Given the description of an element on the screen output the (x, y) to click on. 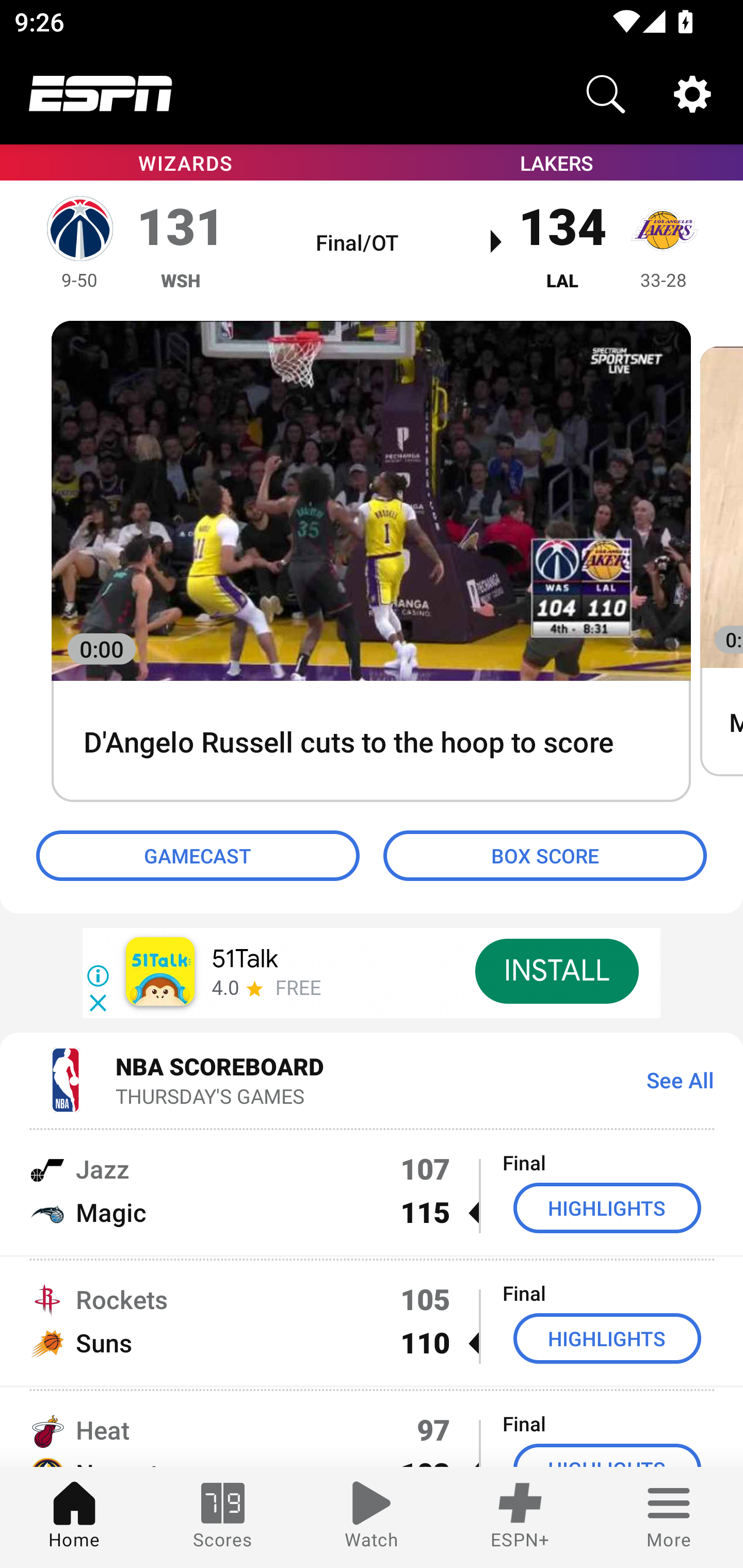
Search (605, 93)
Settings (692, 93)
0:00 D'Angelo Russell cuts to the hoop to score (370, 561)
GAMECAST (197, 856)
BOX SCORE (544, 856)
INSTALL (556, 971)
51Talk (244, 959)
NBA SCOREBOARD THURSDAY'S GAMES See All (371, 1079)
Jazz 107 Final Magic 115  HIGHLIGHTS (371, 1189)
HIGHLIGHTS (607, 1208)
Rockets 105 Final Suns 110  HIGHLIGHTS (371, 1321)
HIGHLIGHTS (607, 1338)
Heat 97 Final Nuggets 103  HIGHLIGHTS (371, 1427)
Scores (222, 1517)
Watch (371, 1517)
ESPN+ (519, 1517)
More (668, 1517)
